Given the description of an element on the screen output the (x, y) to click on. 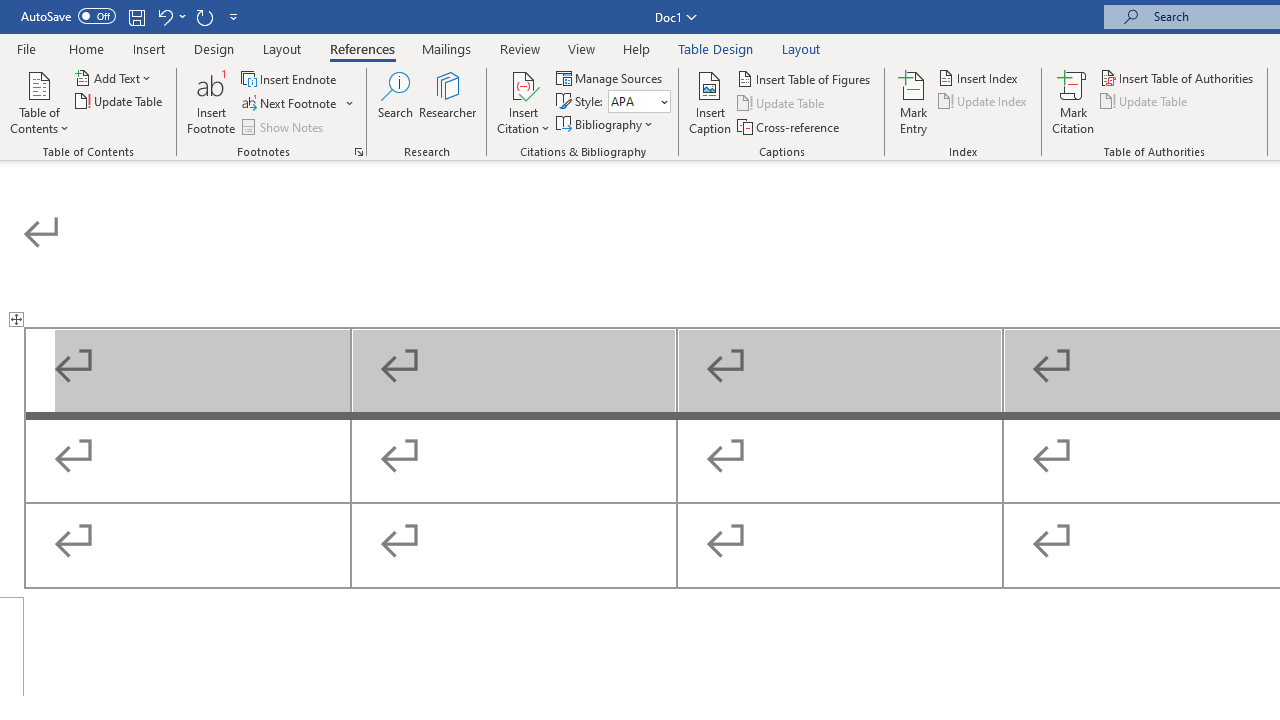
Update Index (984, 101)
Cross-reference... (789, 126)
Insert Table of Figures... (804, 78)
Insert Caption... (710, 102)
Footnote and Endnote Dialog... (358, 151)
Table of Contents (39, 102)
Undo Outline Move Up (164, 15)
Bibliography (606, 124)
